Given the description of an element on the screen output the (x, y) to click on. 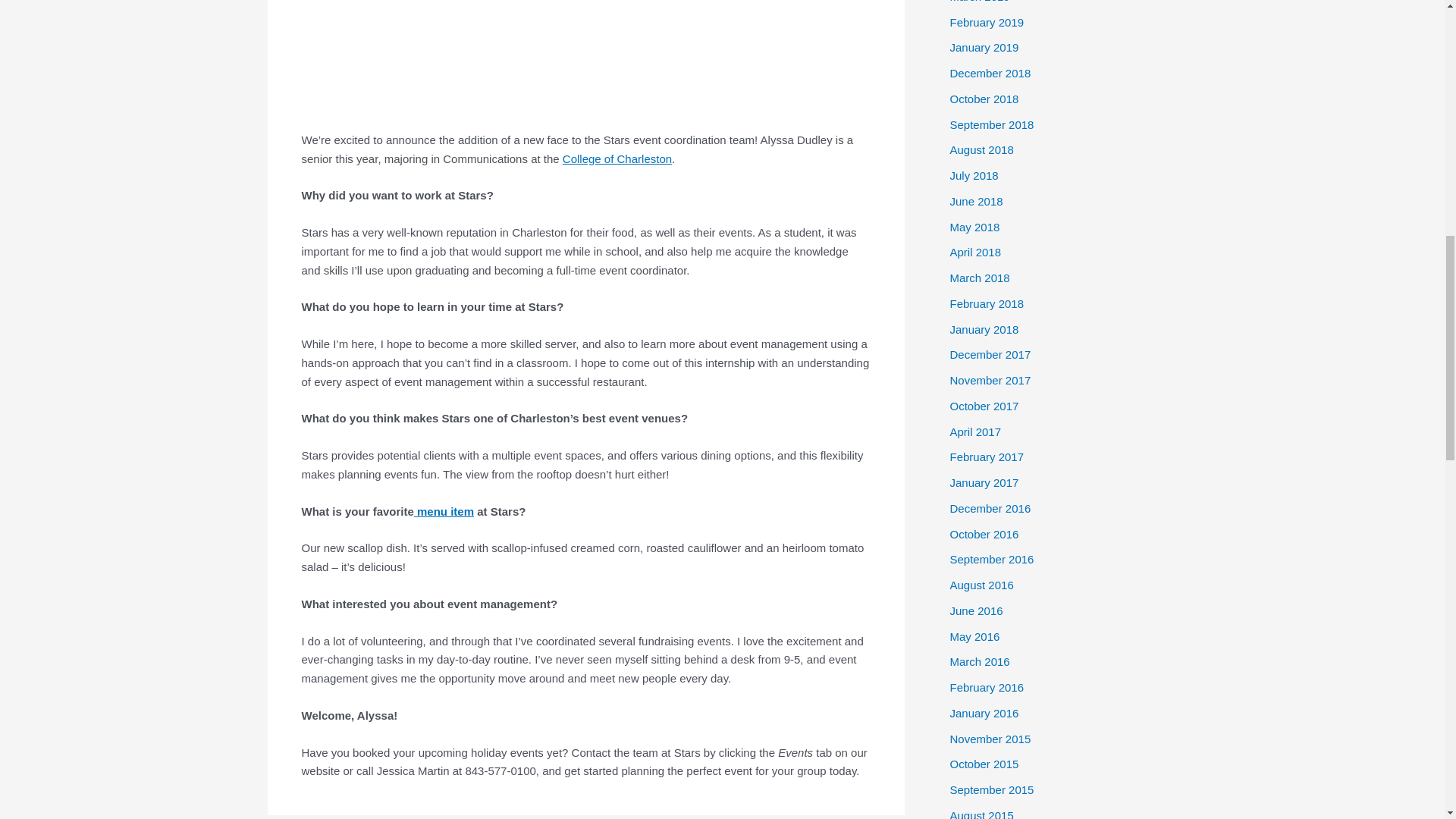
July 2018 (973, 174)
August 2018 (981, 149)
College of Charleston (616, 158)
February 2019 (986, 21)
October 2018 (983, 98)
January 2019 (983, 47)
June 2018 (976, 201)
March 2018 (979, 277)
April 2018 (975, 251)
May 2018 (973, 226)
September 2018 (991, 124)
menu item (443, 511)
February 2018 (986, 303)
December 2018 (989, 72)
March 2019 (979, 1)
